Given the description of an element on the screen output the (x, y) to click on. 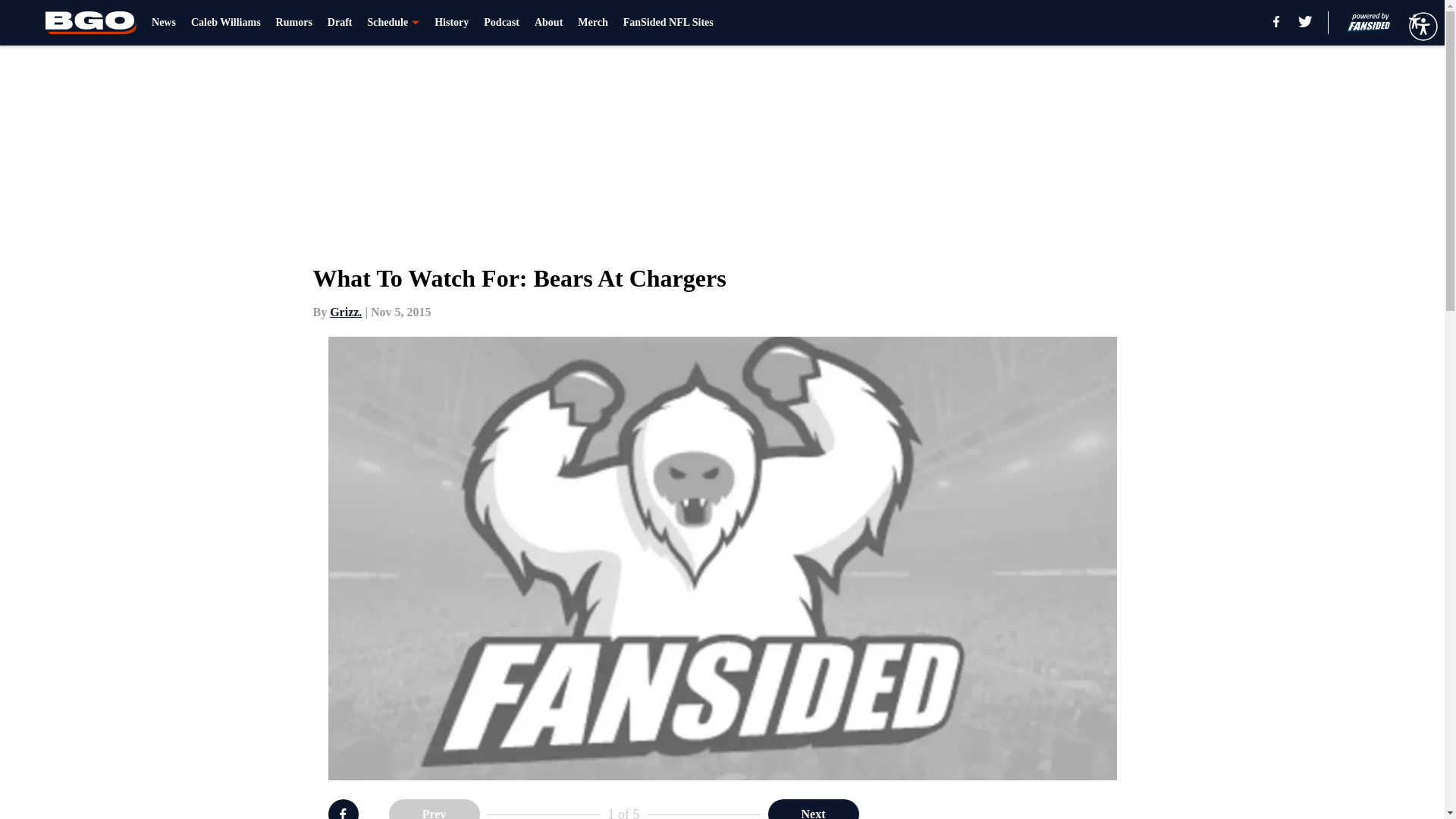
Next (813, 809)
Rumors (294, 22)
Merch (592, 22)
About (548, 22)
History (450, 22)
Prev (433, 809)
Podcast (501, 22)
Grizz. (345, 311)
Draft (339, 22)
News (163, 22)
